Given the description of an element on the screen output the (x, y) to click on. 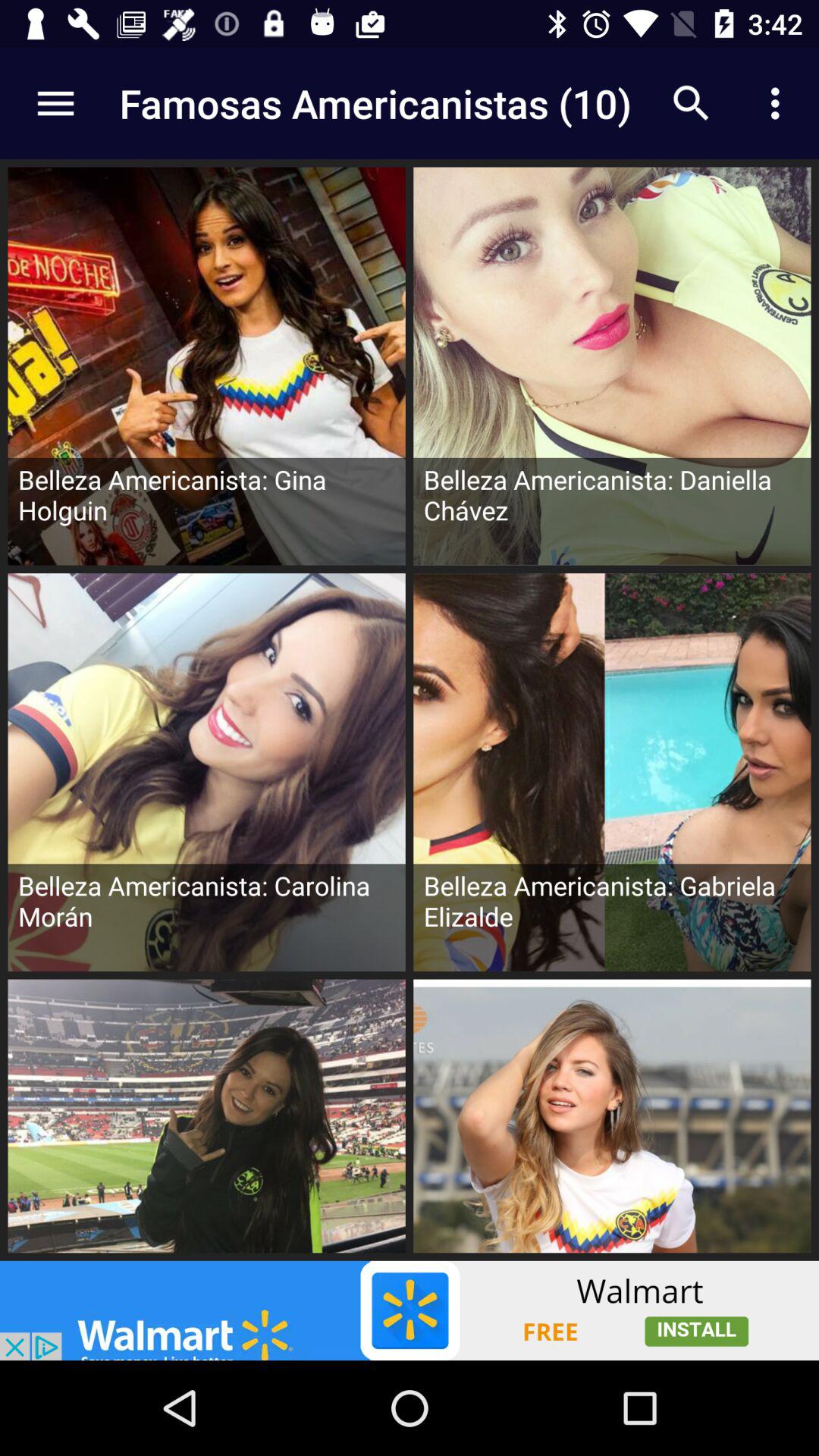
last row 1st image of the page (206, 1119)
